Given the description of an element on the screen output the (x, y) to click on. 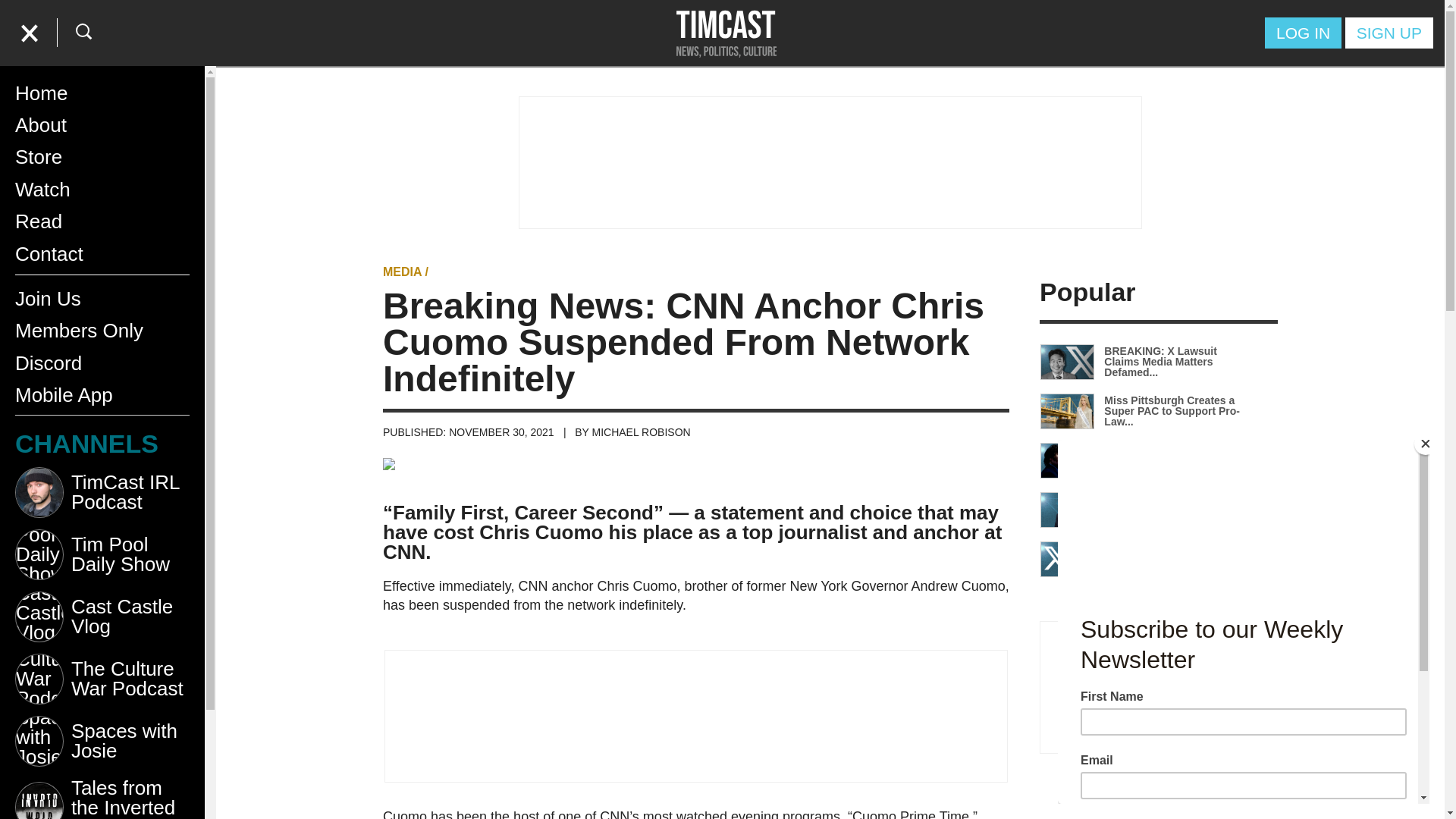
Store (101, 156)
TimCast IRL Podcast (101, 497)
Watch (101, 189)
Cast Castle Vlog (101, 622)
Mobile App (101, 395)
Discord (101, 363)
Contact (101, 254)
LOG IN (1302, 32)
Linda Yaccarino Says She Is 'Deeply Committed To The... (1143, 559)
Democrat Congressman Says Trump 'Has to Be Eliminated' (1143, 509)
Join Us (101, 298)
BREAKING: X Lawsuit Claims Media Matters Defamed... (1143, 361)
Tim Pool Daily Show (101, 560)
Spaces with Josie (101, 746)
